Given the description of an element on the screen output the (x, y) to click on. 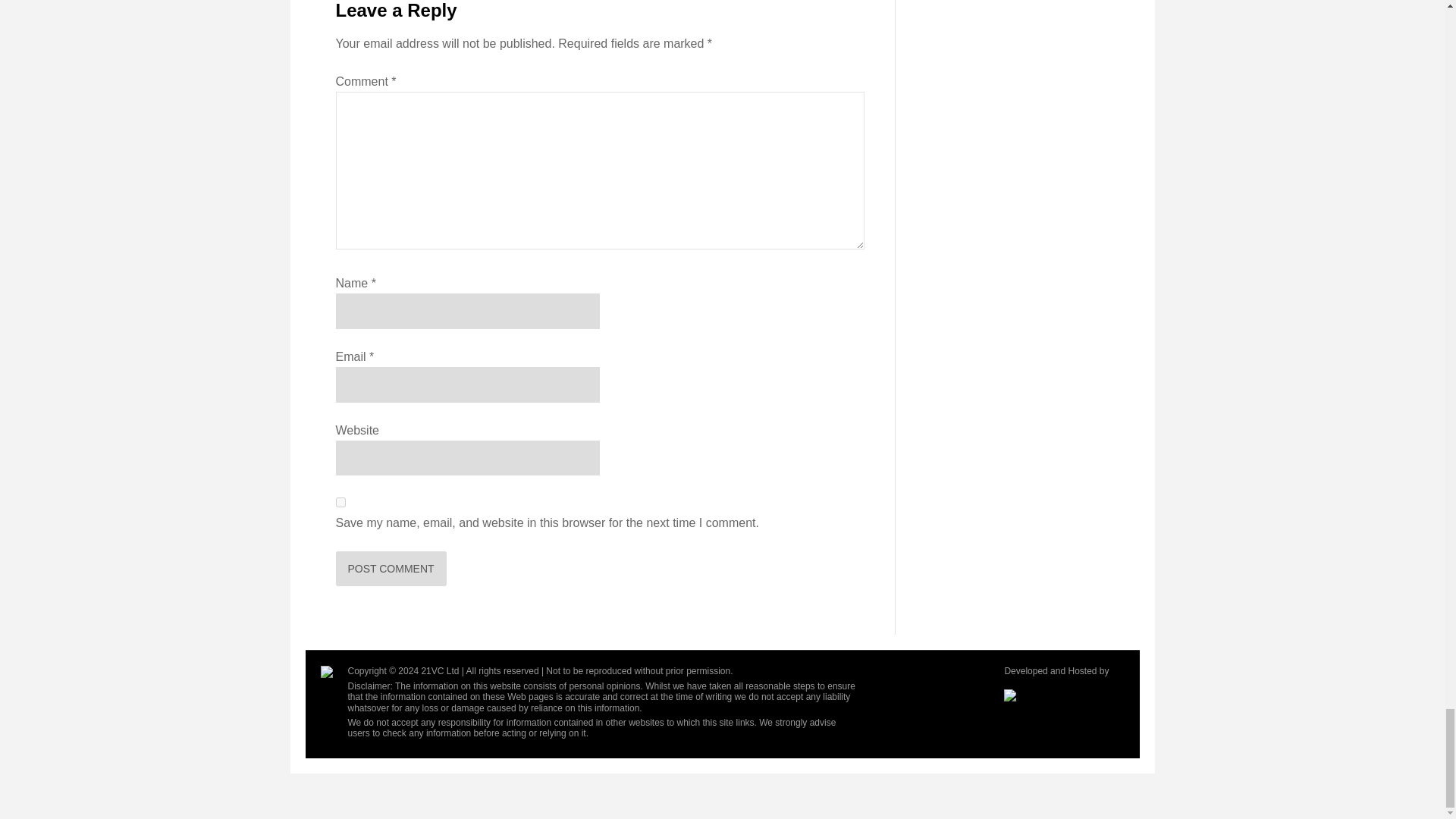
yes (339, 501)
Post Comment (389, 568)
